Given the description of an element on the screen output the (x, y) to click on. 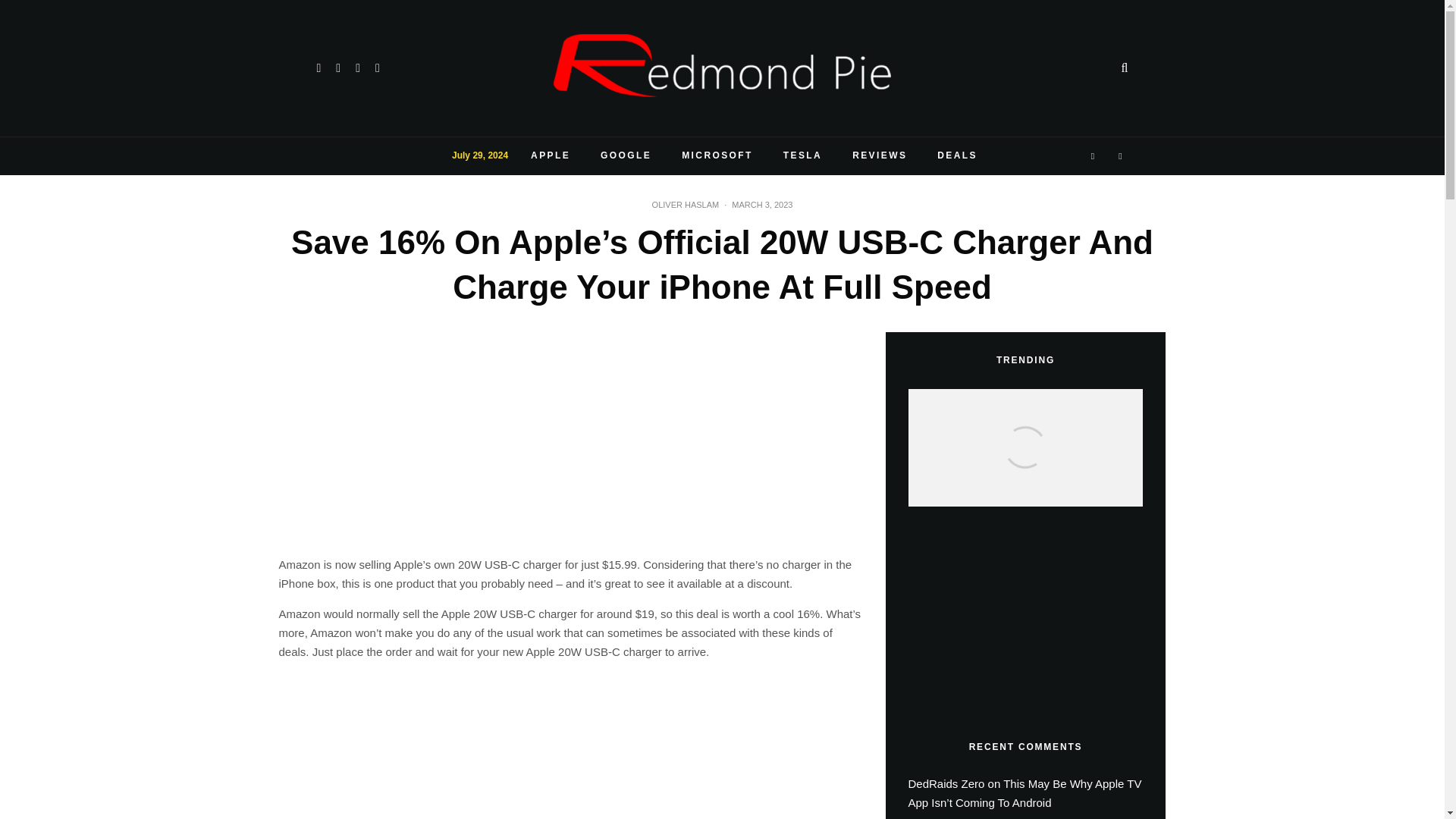
APPLE (550, 156)
MICROSOFT (717, 156)
TESLA (802, 156)
GOOGLE (625, 156)
